Given the description of an element on the screen output the (x, y) to click on. 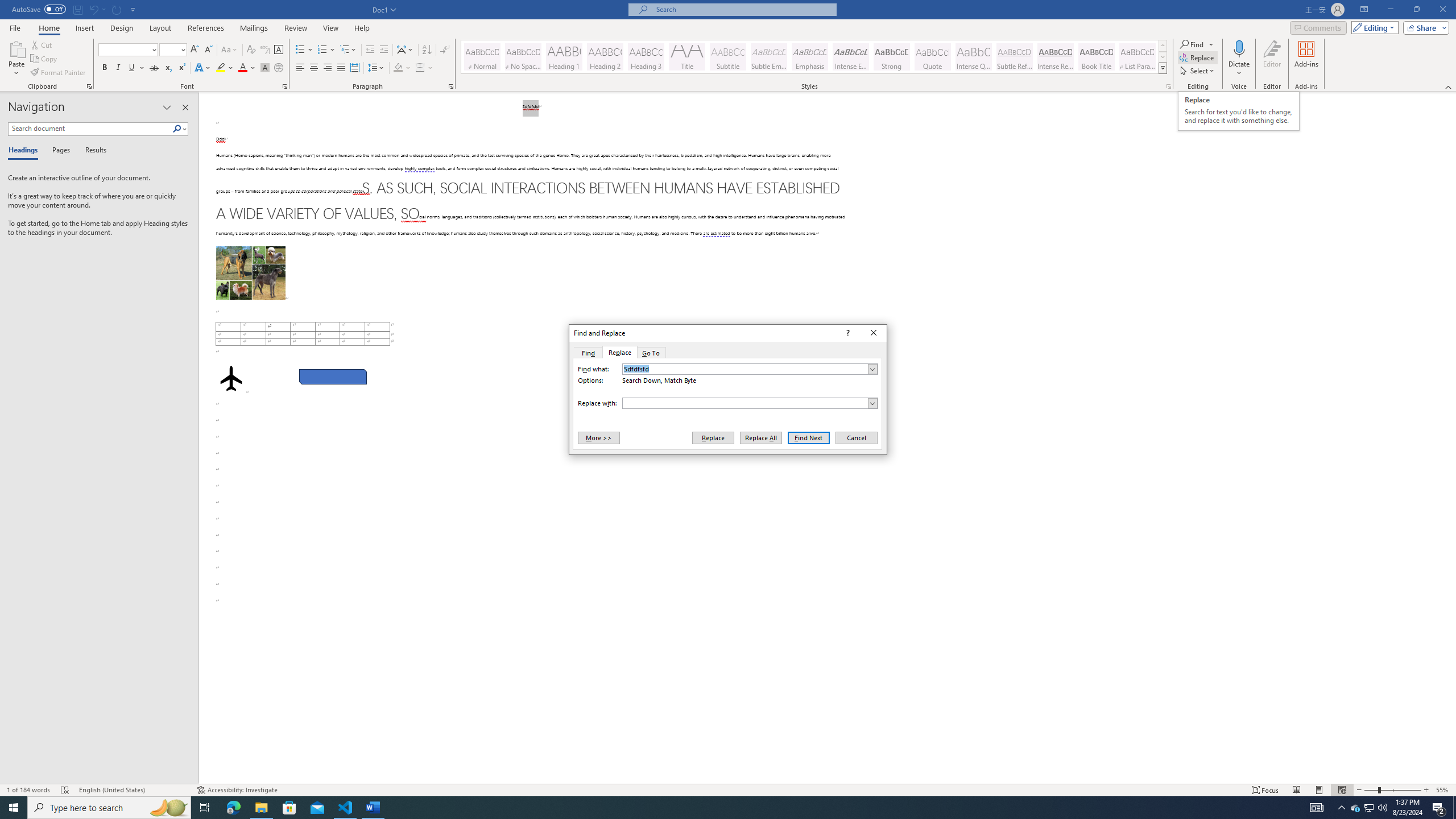
Microsoft search (742, 9)
Character Border (278, 49)
Rectangle: Diagonal Corners Snipped 2 (332, 376)
Styles... (1168, 85)
Replace (713, 437)
Shading RGB(0, 0, 0) (397, 67)
Shrink Font (208, 49)
Center (313, 67)
Text Highlight Color (224, 67)
Sort... (426, 49)
